Given the description of an element on the screen output the (x, y) to click on. 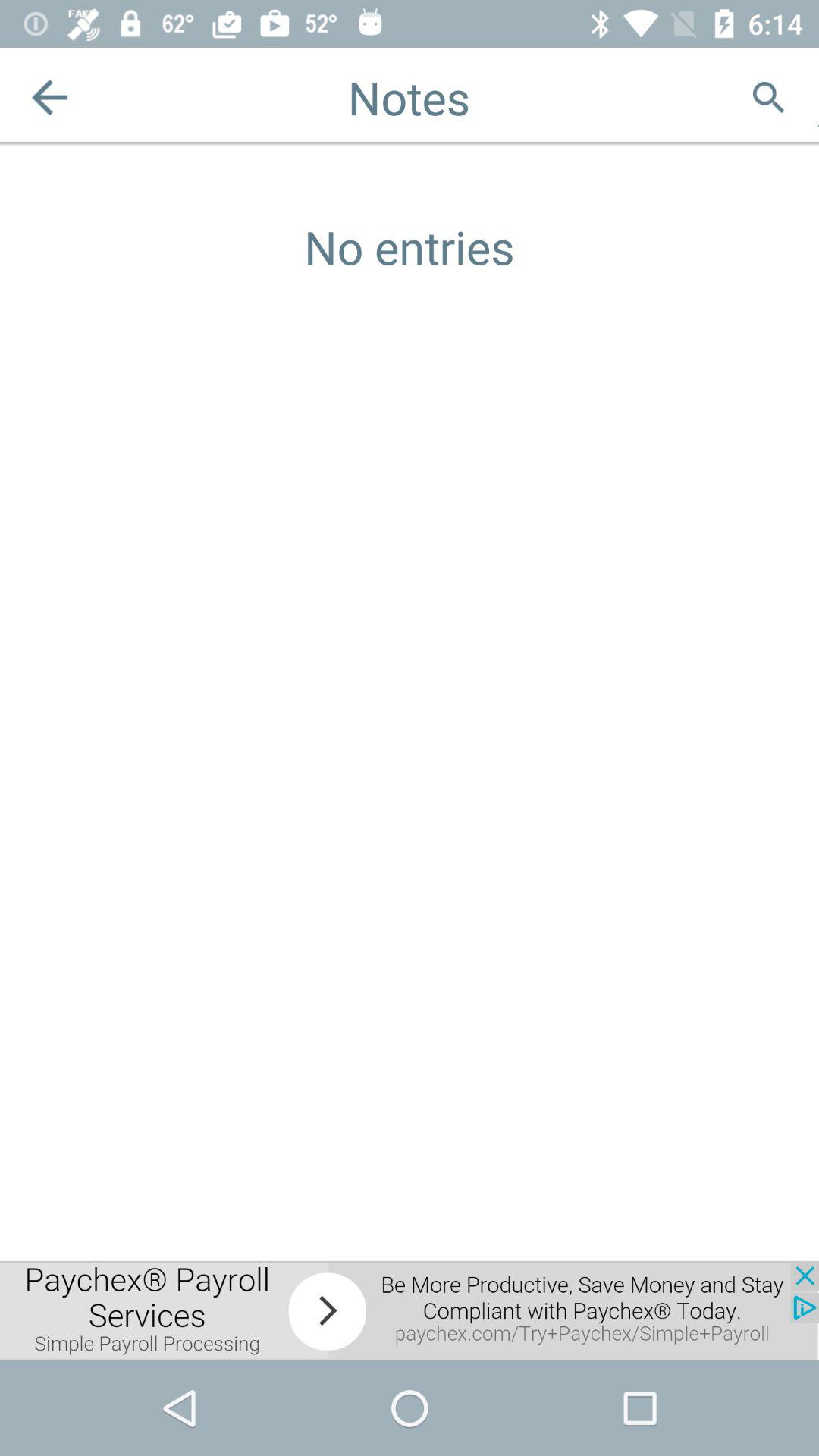
search (768, 97)
